Given the description of an element on the screen output the (x, y) to click on. 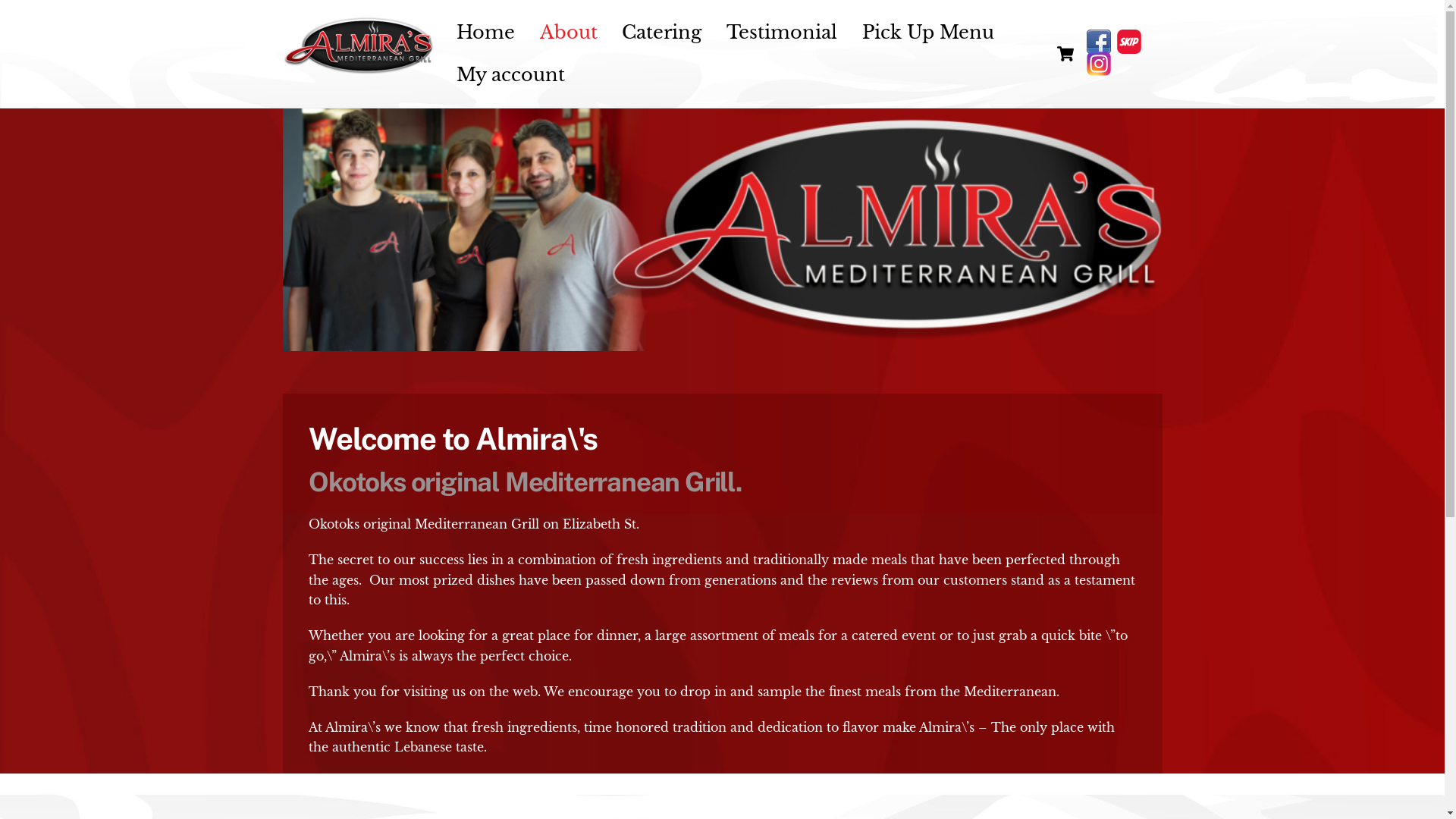
About Element type: text (568, 32)
Pick Up Menu Element type: text (928, 32)
Catering Element type: text (661, 32)
Cart Element type: text (1065, 53)
My account Element type: text (510, 74)
logo200 Element type: hover (357, 45)
Testimonial Element type: text (781, 32)
slide1 Element type: hover (721, 229)
Home Element type: text (485, 32)
Almira's Mediterranean Grill Element type: hover (357, 68)
